Given the description of an element on the screen output the (x, y) to click on. 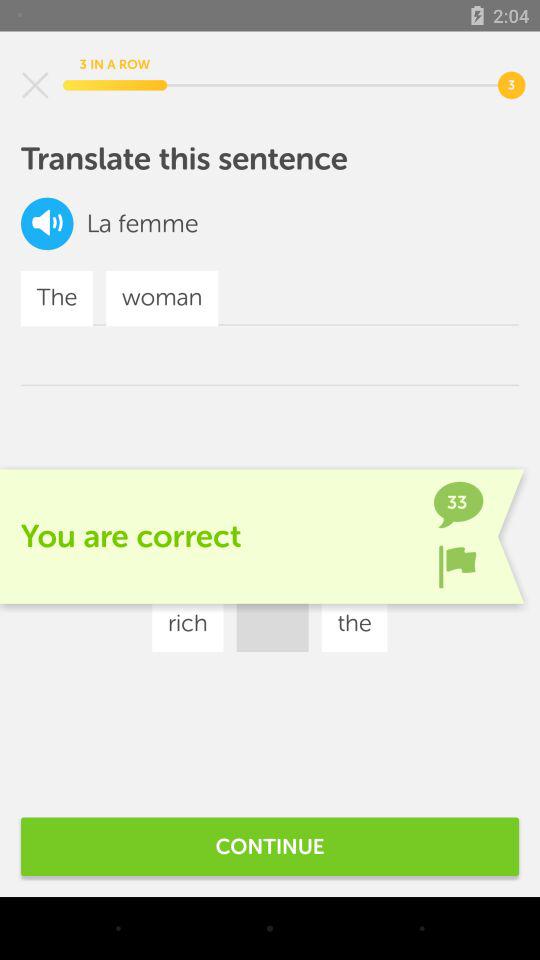
close streak view (35, 85)
